Given the description of an element on the screen output the (x, y) to click on. 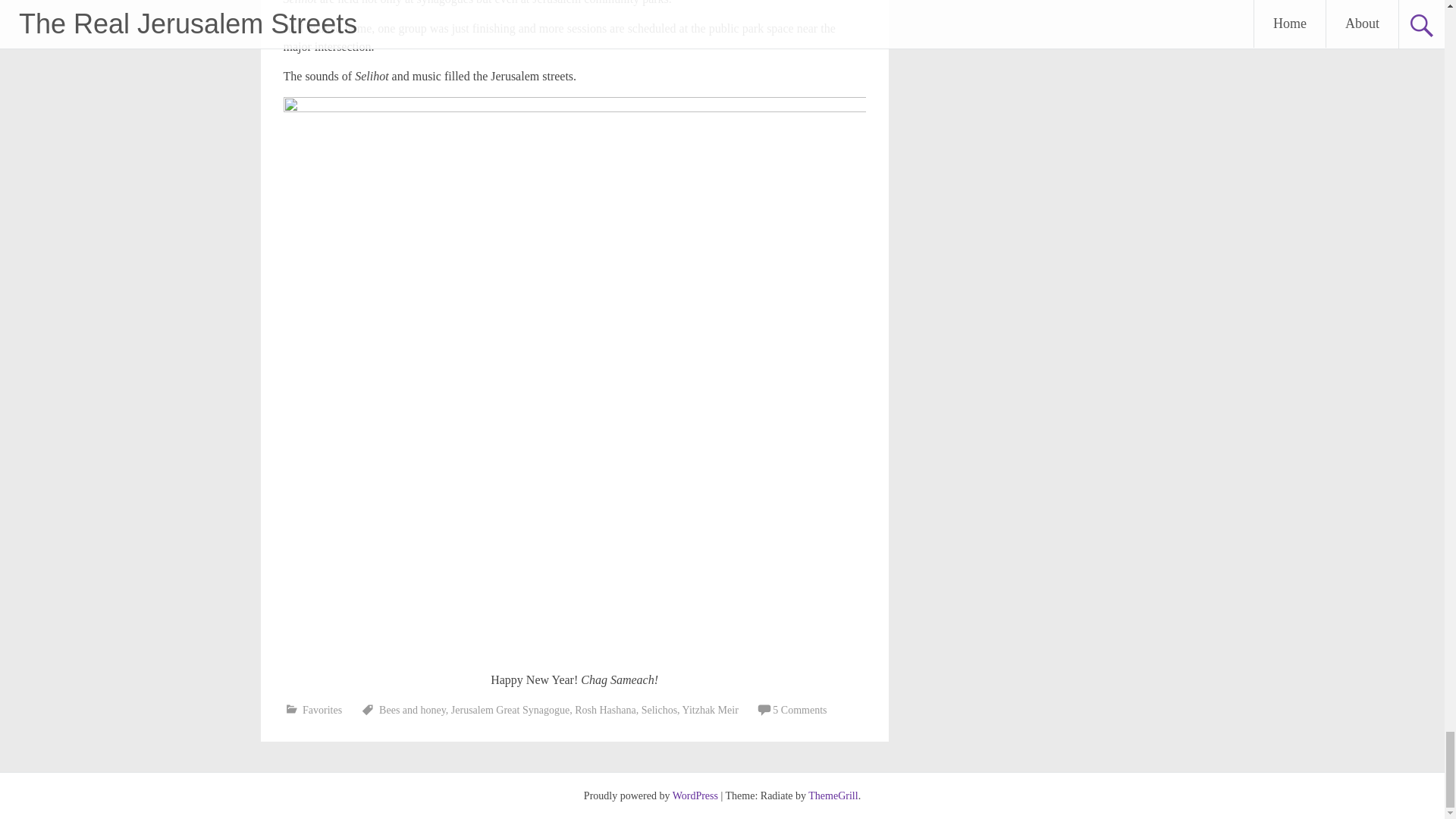
Selichos (659, 709)
Favorites (322, 709)
Bees and honey (411, 709)
Rosh Hashana (605, 709)
5 Comments (800, 709)
WordPress (694, 795)
Yitzhak Meir (710, 709)
Jerusalem Great Synagogue (510, 709)
ThemeGrill (832, 795)
